Given the description of an element on the screen output the (x, y) to click on. 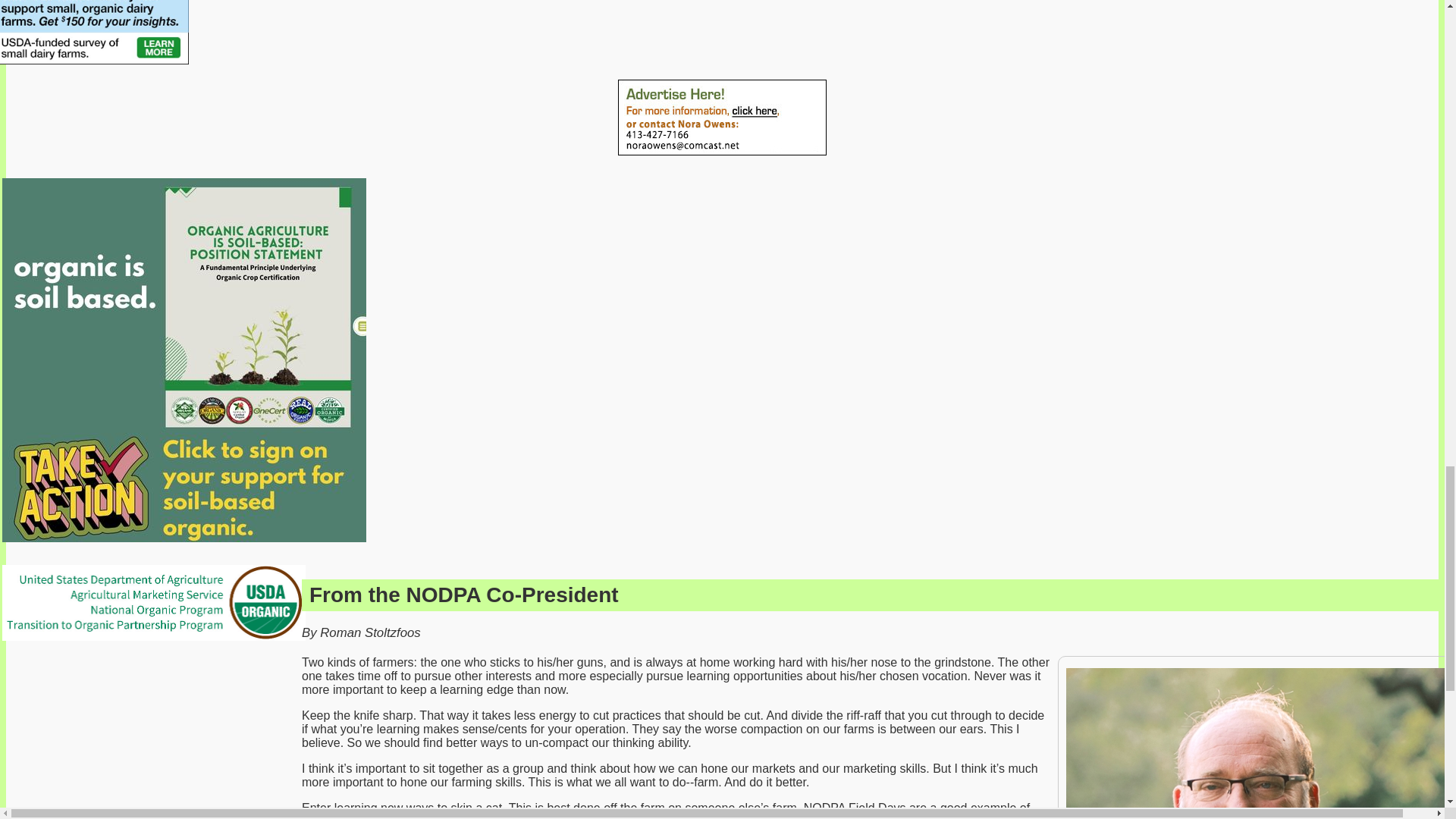
TakeActionOrganicSoil (184, 360)
